Given the description of an element on the screen output the (x, y) to click on. 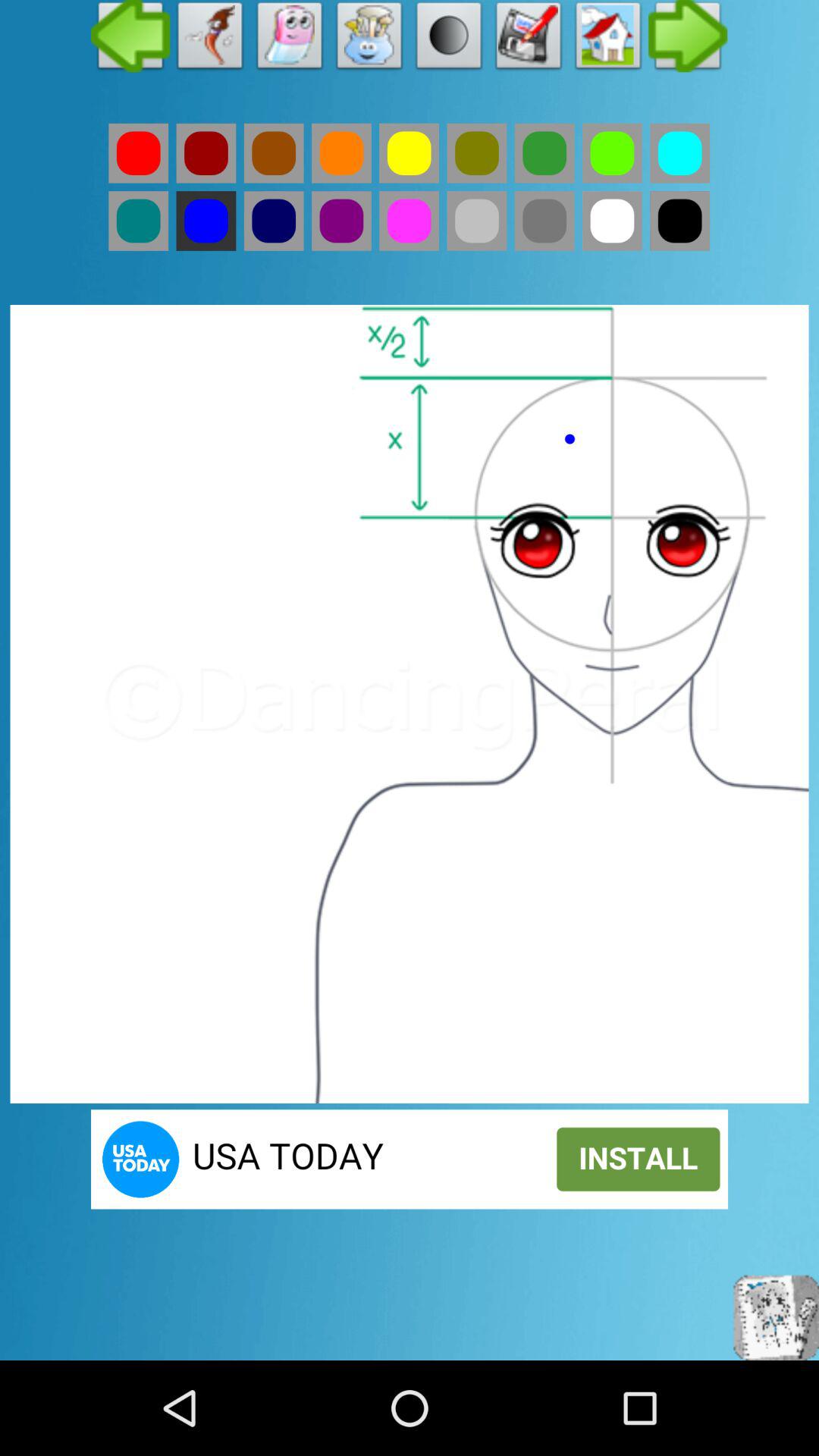
enable gradient (449, 39)
